Given the description of an element on the screen output the (x, y) to click on. 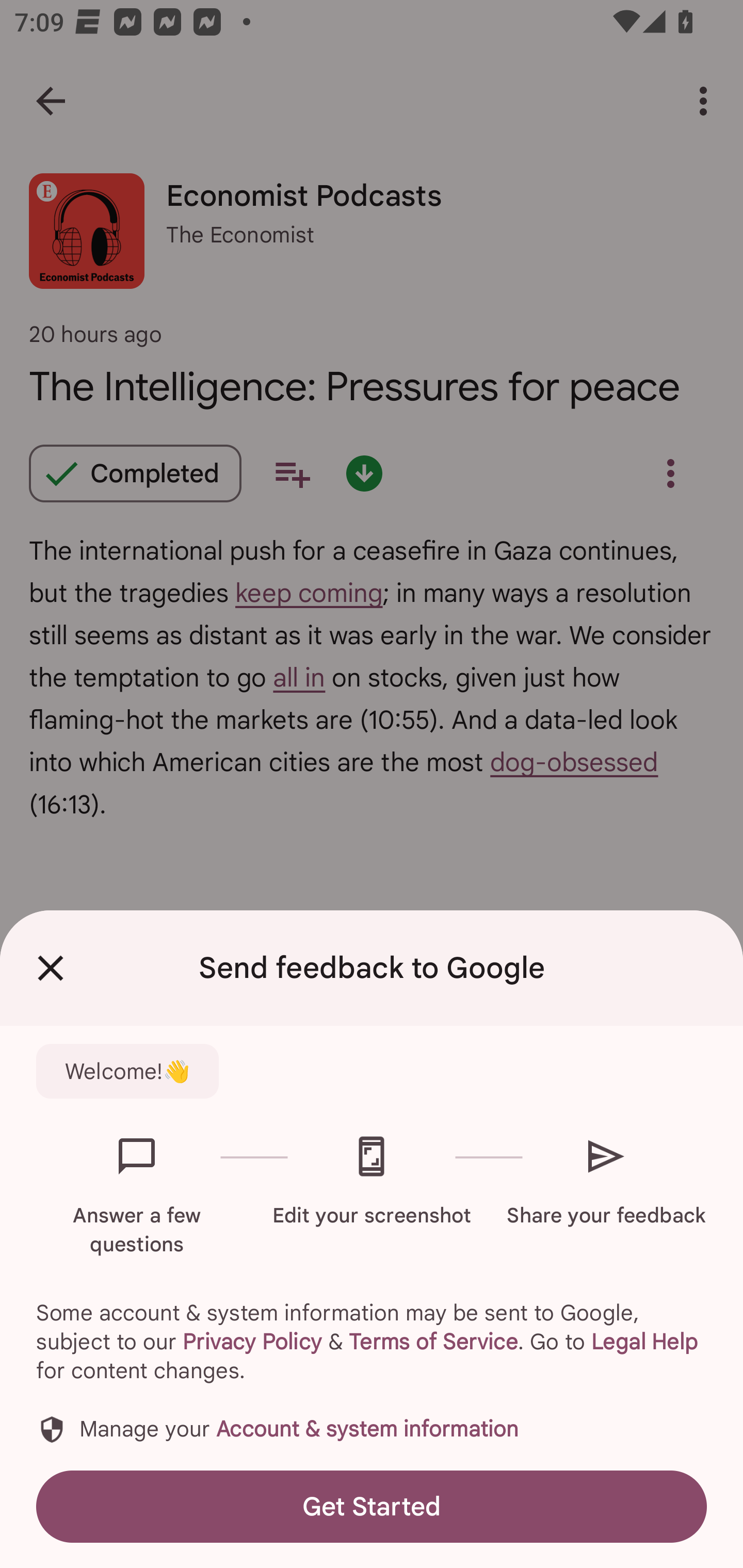
Close Feedback (50, 968)
Get Started (371, 1505)
